Given the description of an element on the screen output the (x, y) to click on. 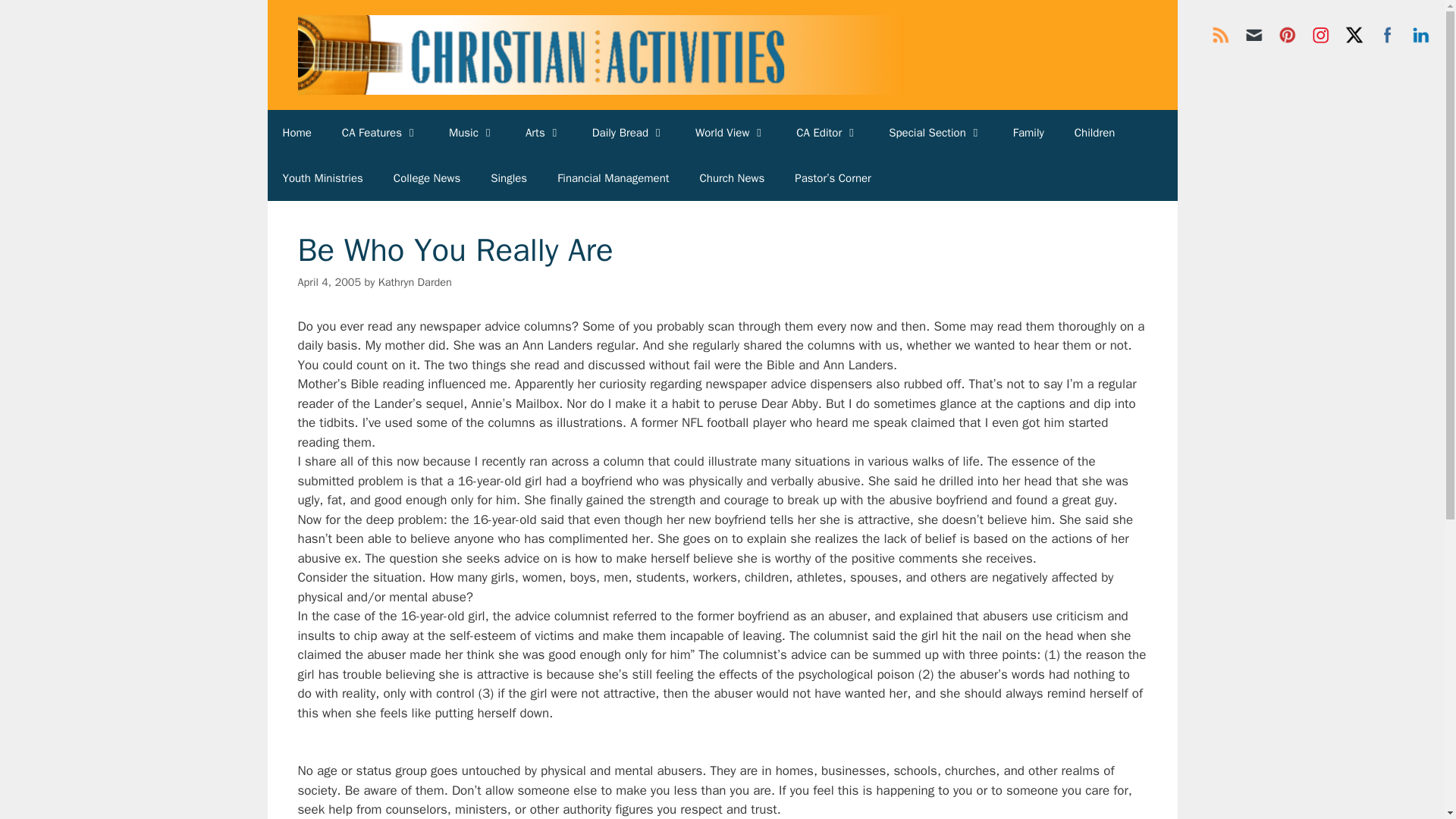
Daily Bread (627, 132)
Singles (508, 177)
CA Editor (826, 132)
Youth Ministries (321, 177)
World View (729, 132)
View all posts by Kathryn Darden (414, 282)
CA Features (379, 132)
RSS (1220, 34)
Family (1028, 132)
Children (1095, 132)
Special Section (935, 132)
Home (296, 132)
College News (427, 177)
Arts (543, 132)
Music (472, 132)
